Given the description of an element on the screen output the (x, y) to click on. 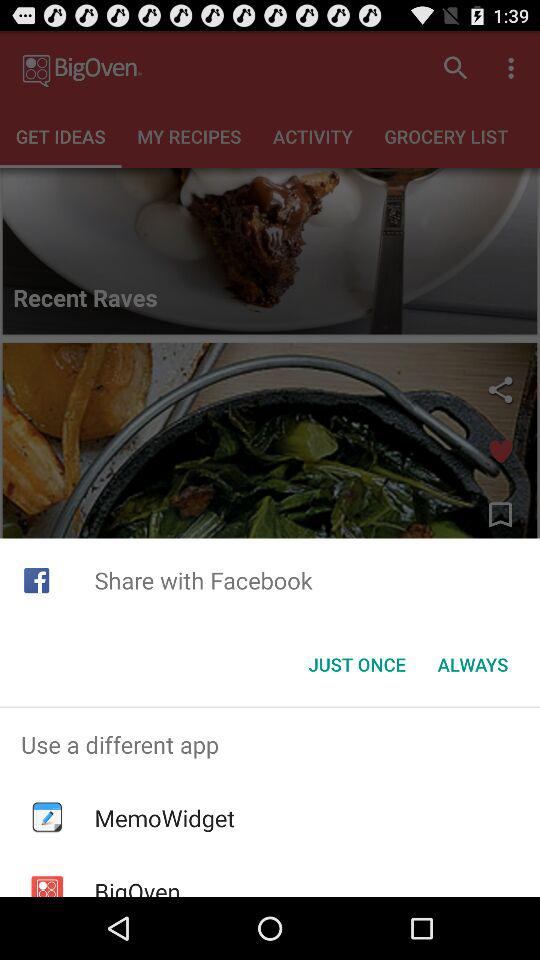
choose use a different icon (270, 744)
